Given the description of an element on the screen output the (x, y) to click on. 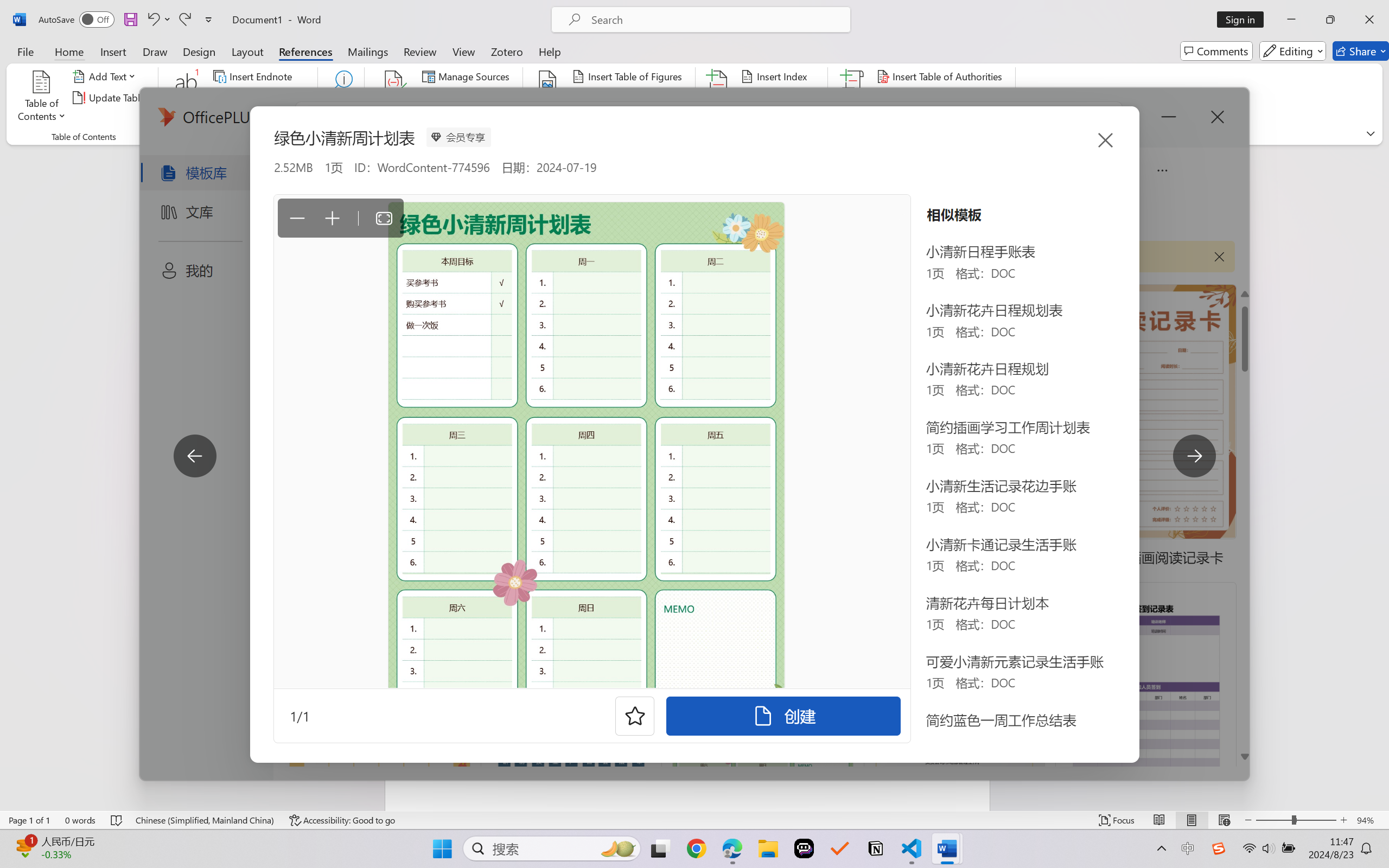
Redo Apply Quick Style (184, 19)
Manage Sources... (467, 75)
Sign in (1244, 19)
Editing (1292, 50)
Next Footnote (253, 97)
Insert Footnote (186, 97)
Insert Endnote (253, 75)
